Given the description of an element on the screen output the (x, y) to click on. 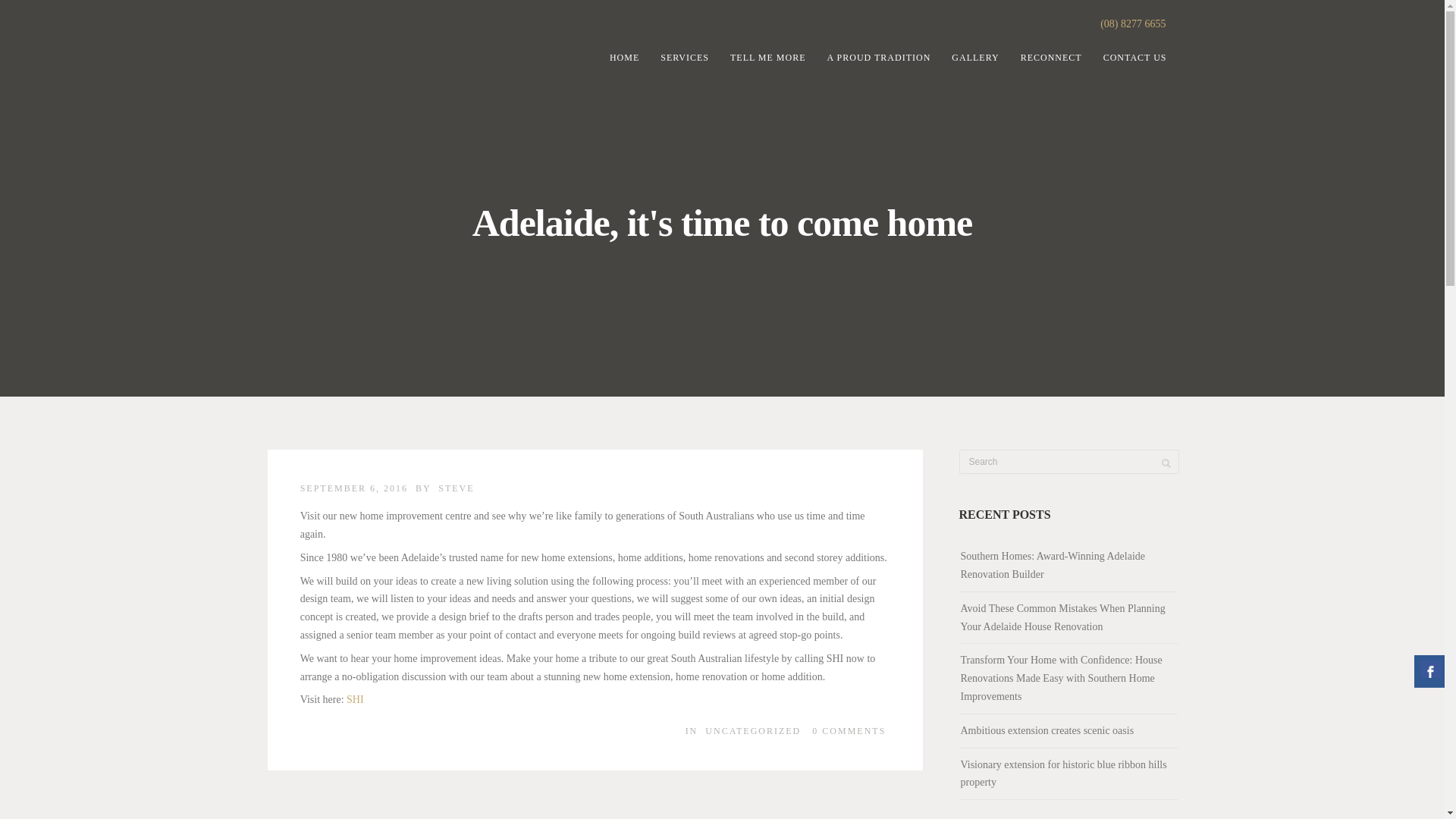
UNCATEGORIZED (752, 730)
0 COMMENTS (848, 730)
HOME (623, 57)
CONTACT US (1135, 57)
Southern Homes: Award-Winning Adelaide Renovation Builder (1051, 565)
STEVE (456, 488)
GALLERY (974, 57)
RECONNECT (1051, 57)
A PROUD TRADITION (879, 57)
SERVICES (684, 57)
Ambitious extension creates scenic oasis (1046, 730)
TELL ME MORE (767, 57)
Visionary extension for historic blue ribbon hills property (1062, 773)
